Given the description of an element on the screen output the (x, y) to click on. 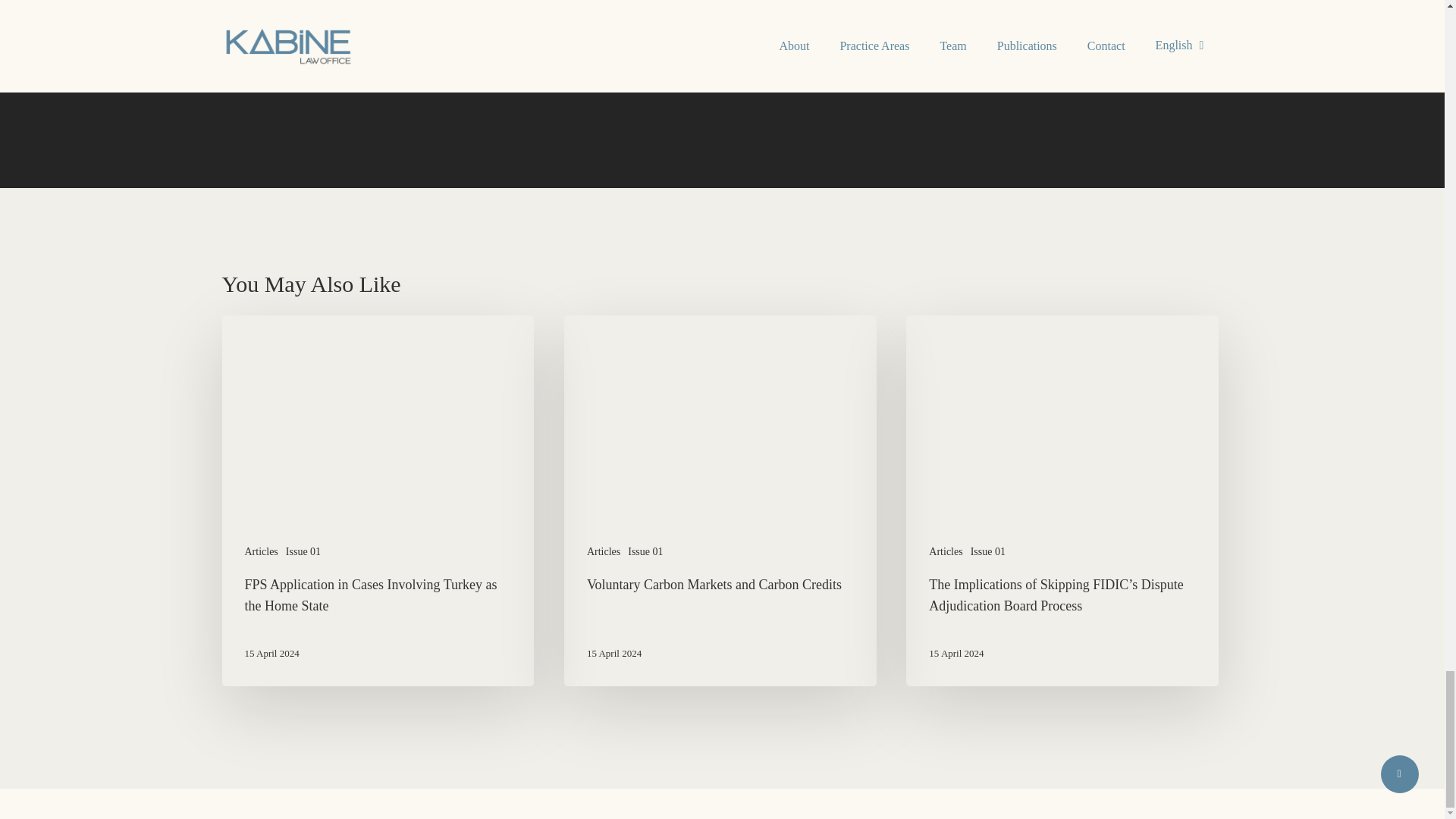
Articles (603, 551)
Articles (261, 551)
Issue 01 (302, 551)
